Given the description of an element on the screen output the (x, y) to click on. 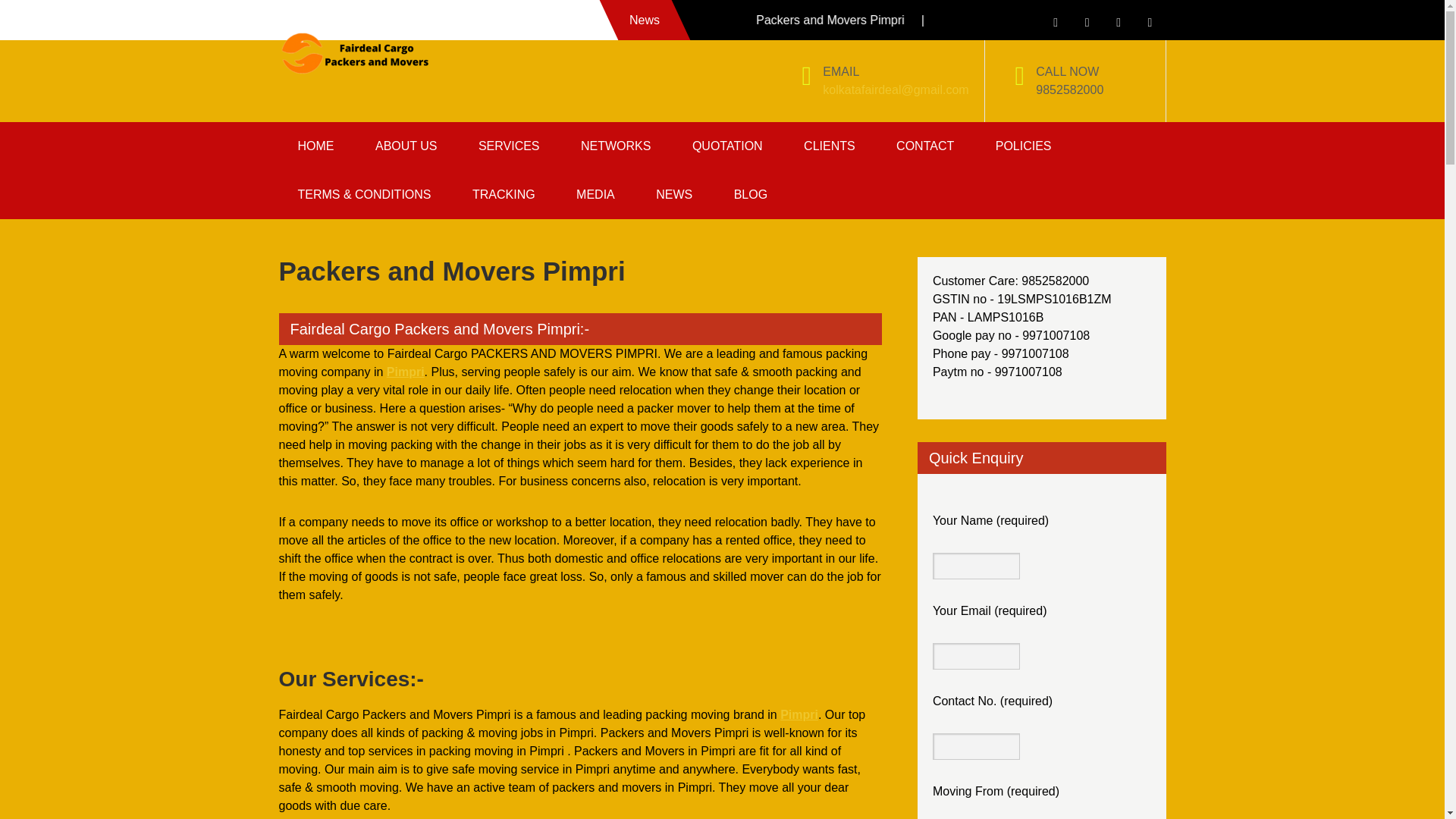
HOME (316, 146)
NETWORKS (615, 146)
SERVICES (509, 146)
ABOUT US (406, 146)
